Given the description of an element on the screen output the (x, y) to click on. 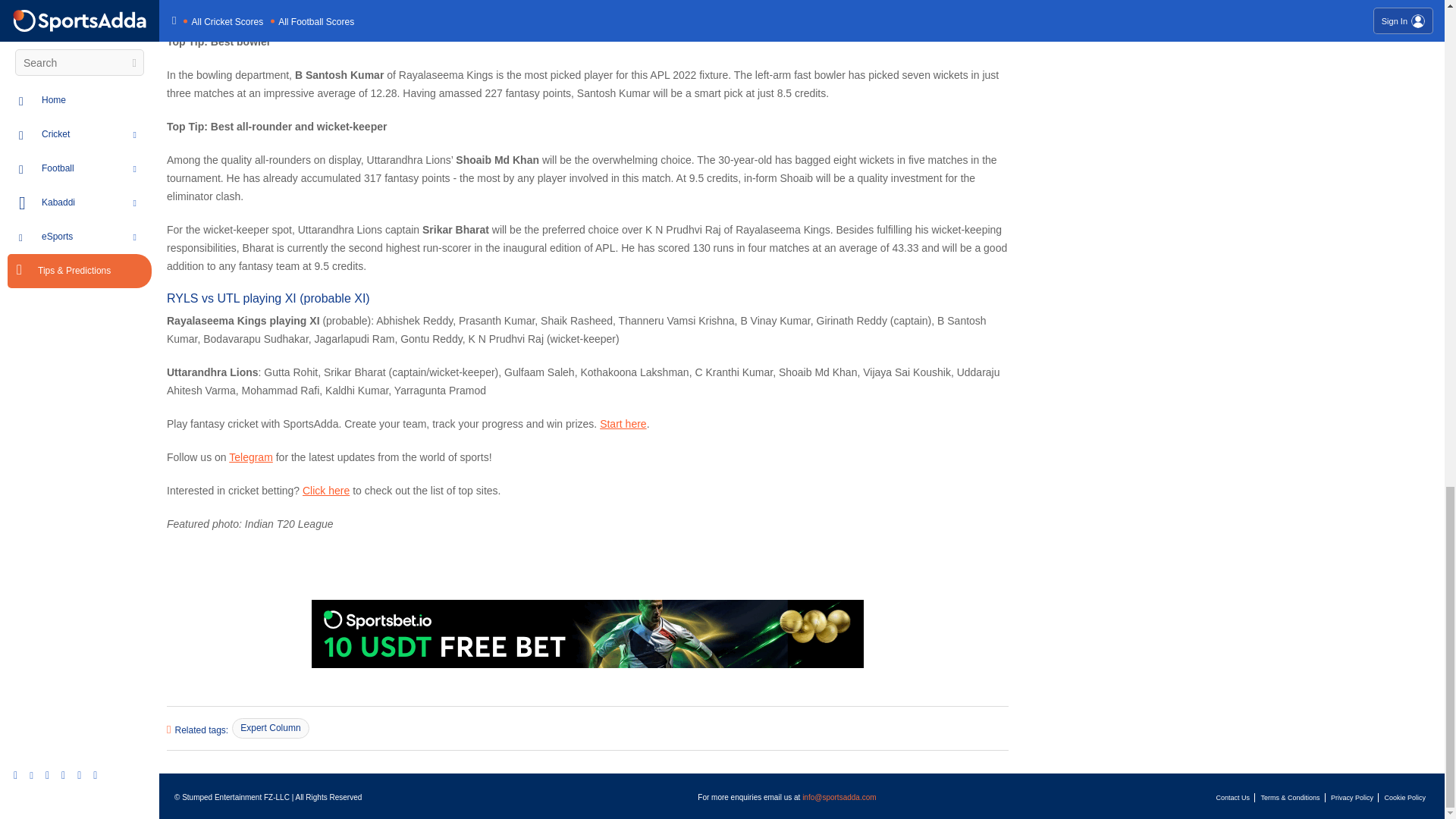
Privacy Policy (1351, 797)
Contact Us (1232, 797)
Cookie Policy (1404, 797)
Expert Column (269, 728)
